Given the description of an element on the screen output the (x, y) to click on. 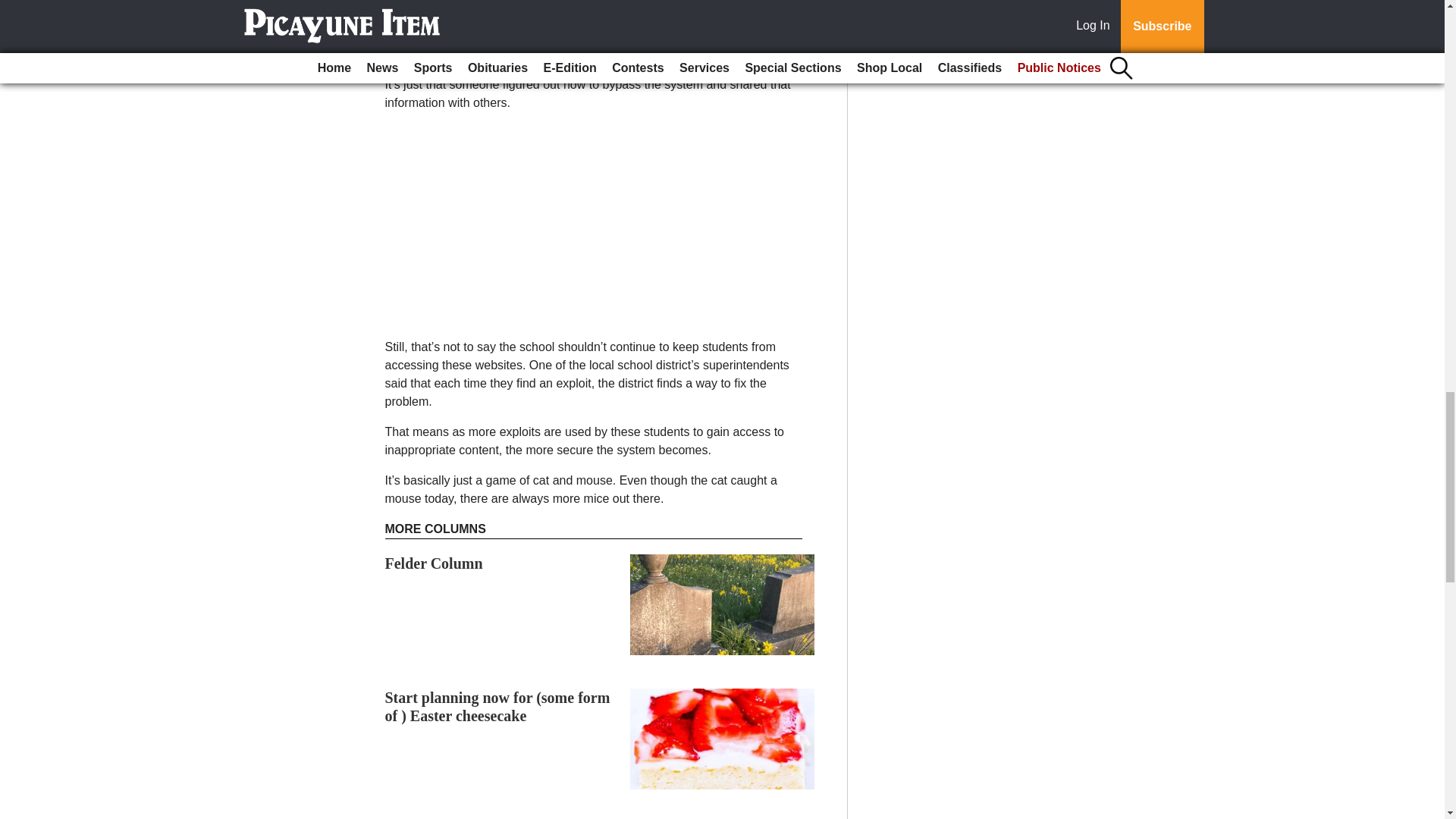
Felder Column (434, 563)
Felder Column (434, 563)
